Given the description of an element on the screen output the (x, y) to click on. 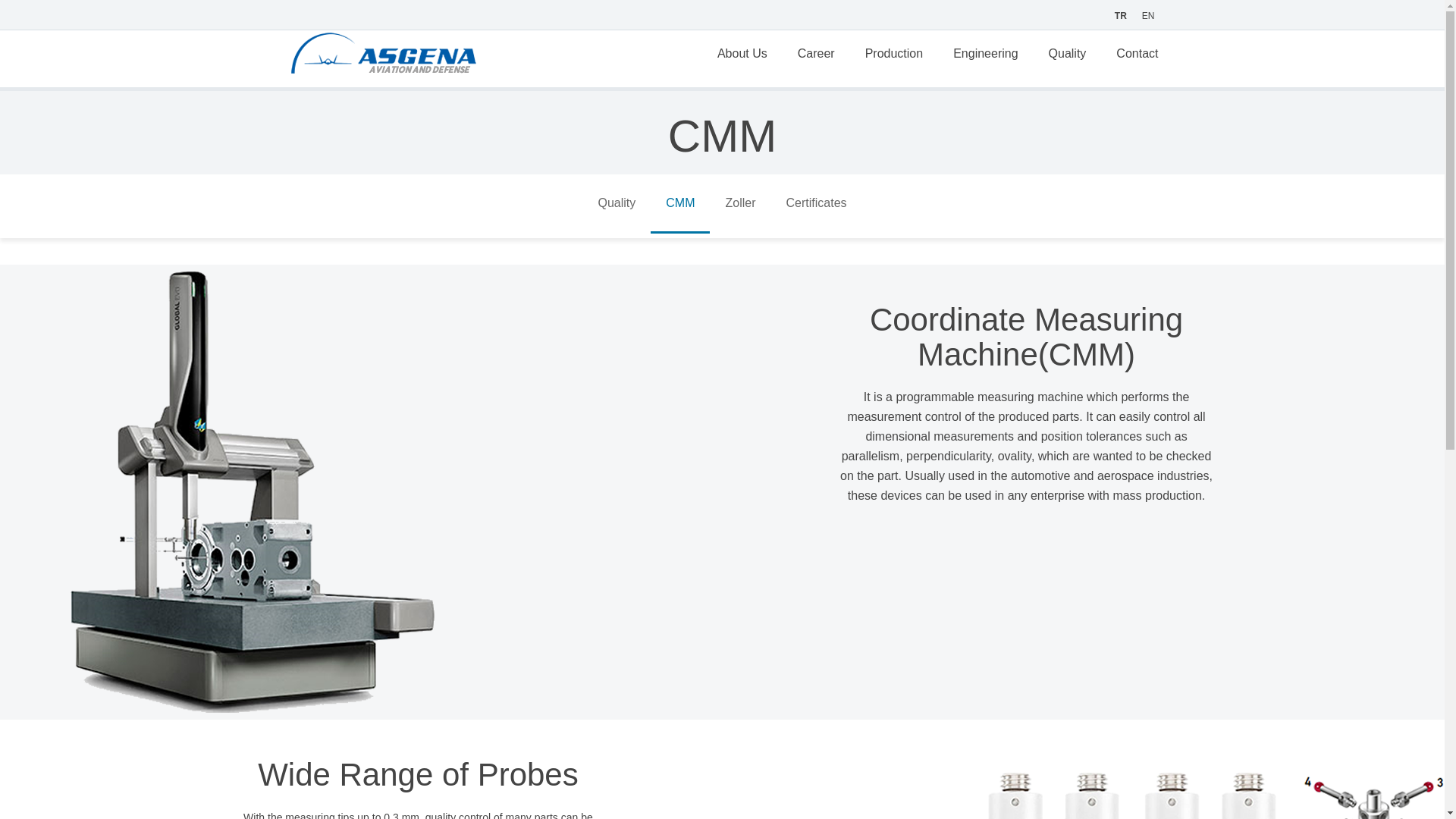
About Us (742, 55)
Contact (1136, 55)
Engineering (984, 55)
Quality (616, 203)
Quality (1067, 55)
Certificates (815, 203)
CMM (680, 203)
Zoller (740, 203)
Career (816, 55)
Production (894, 55)
